Given the description of an element on the screen output the (x, y) to click on. 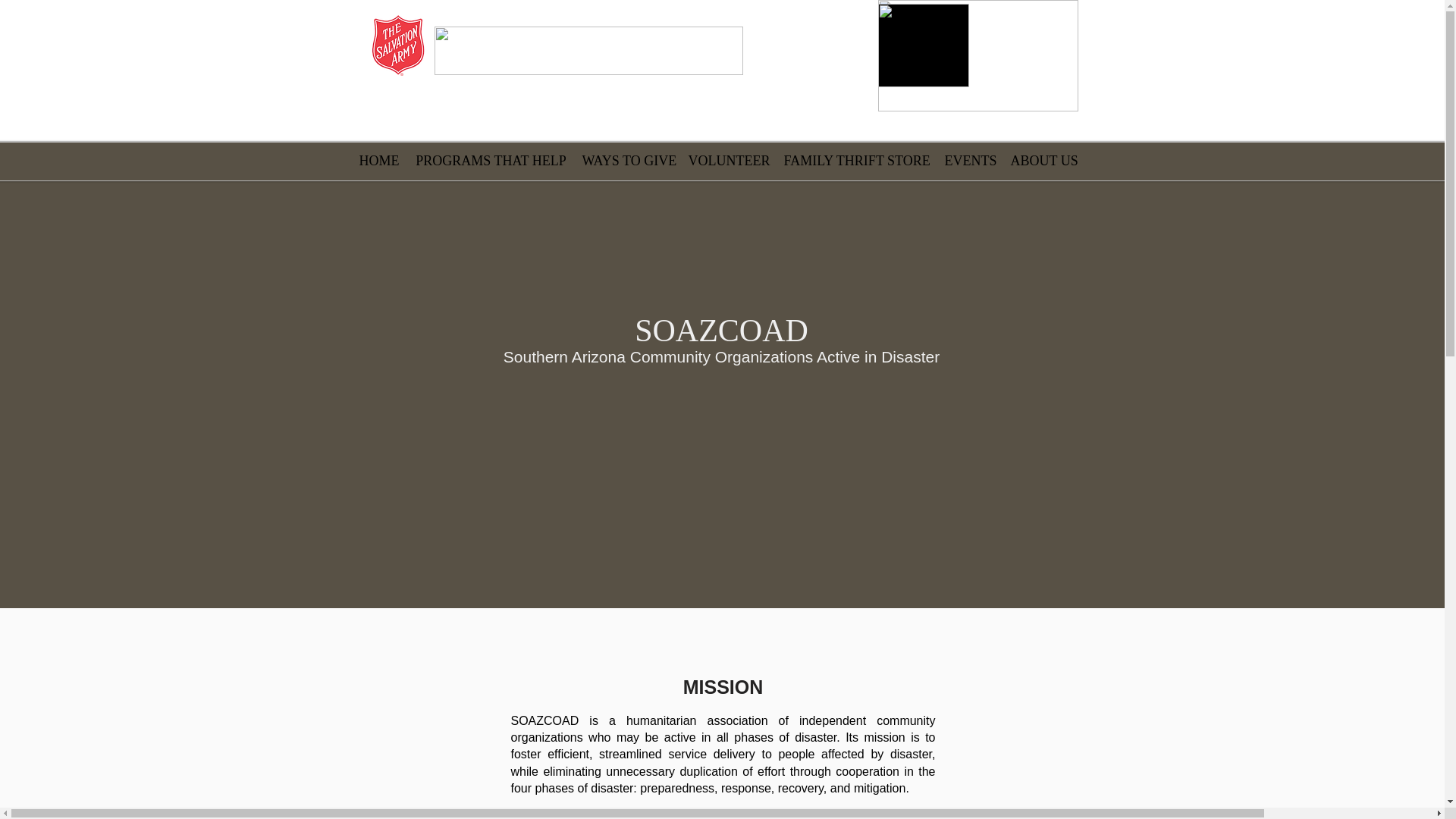
PROGRAMS THAT HELP (491, 160)
FAMILY THRIFT STORE (856, 160)
Tucson Doing The Most Good (587, 50)
WAYS TO GIVE (628, 160)
HOME (378, 160)
VOLUNTEER (728, 160)
EVENTS (970, 160)
ABOUT US (1042, 160)
